Given the description of an element on the screen output the (x, y) to click on. 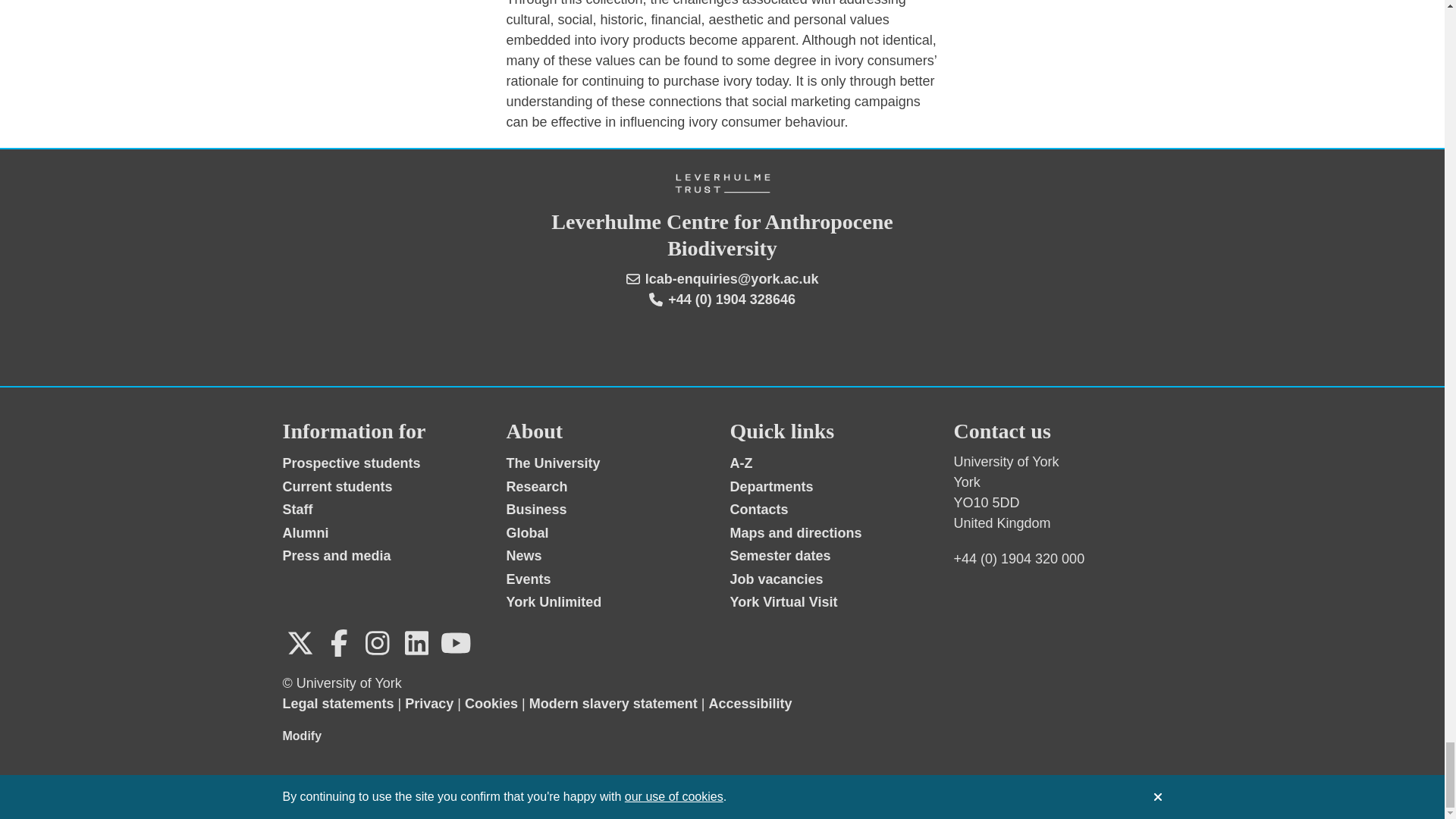
Watch our videos on YouTube (455, 642)
Follow us on X (299, 642)
Follow us on Instagram (376, 642)
Like us on Facebook (338, 642)
Follow us on LinkedIn (415, 642)
